Given the description of an element on the screen output the (x, y) to click on. 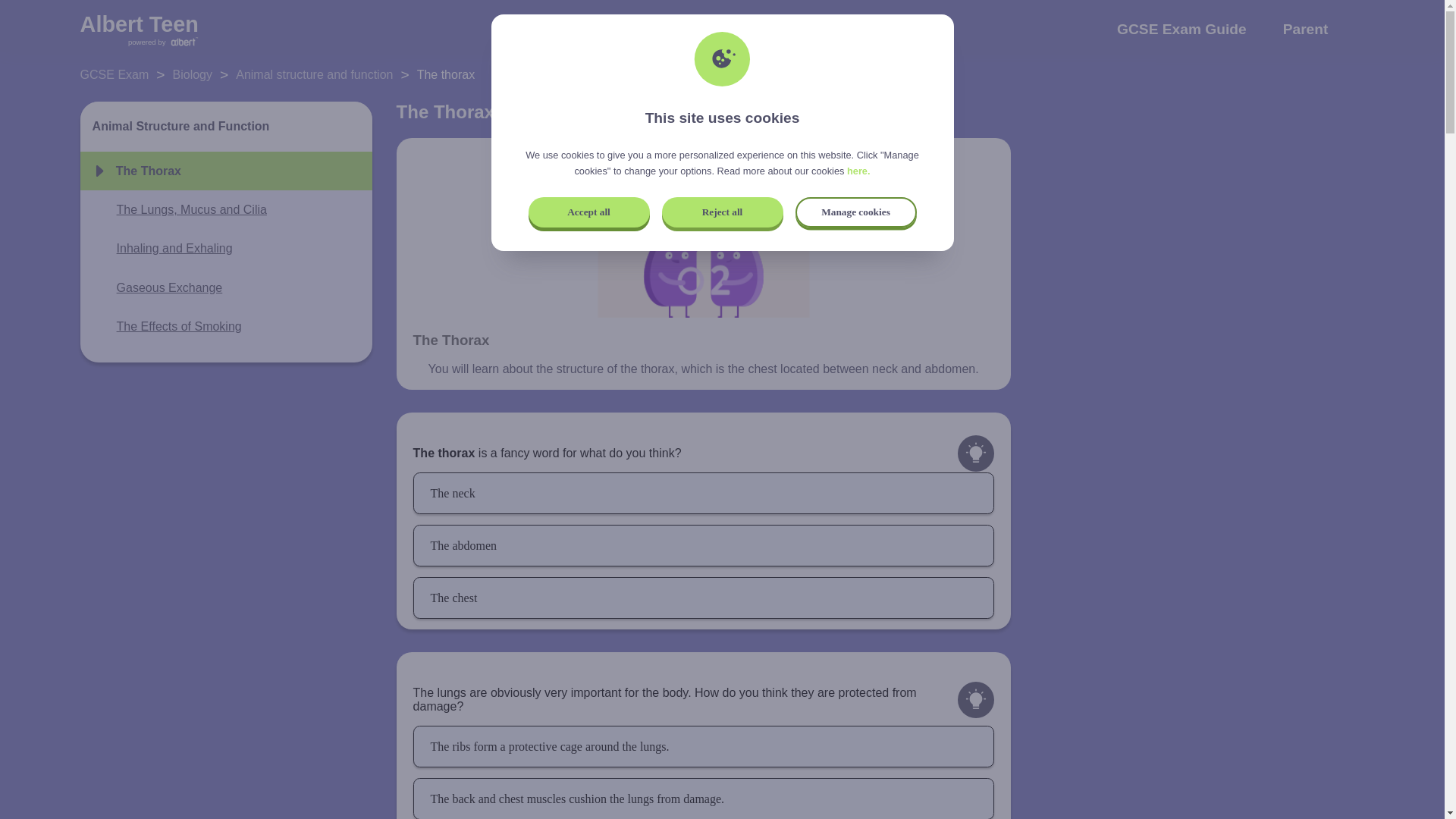
go to cookie page (858, 170)
Animal structure and function (314, 74)
The Effects of Smoking (166, 326)
The ribs form a protective cage around the lungs. (703, 746)
The Lungs, Mucus and Cilia (179, 209)
Inhaling and Exhaling (162, 248)
The chest (703, 598)
The back and chest muscles cushion the lungs from damage. (703, 798)
The thorax (445, 74)
The neck (703, 493)
GCSE Exam Guide (1181, 44)
GCSE Exam (114, 74)
The abdomen (703, 545)
Biology (192, 74)
Parent (1304, 44)
